Given the description of an element on the screen output the (x, y) to click on. 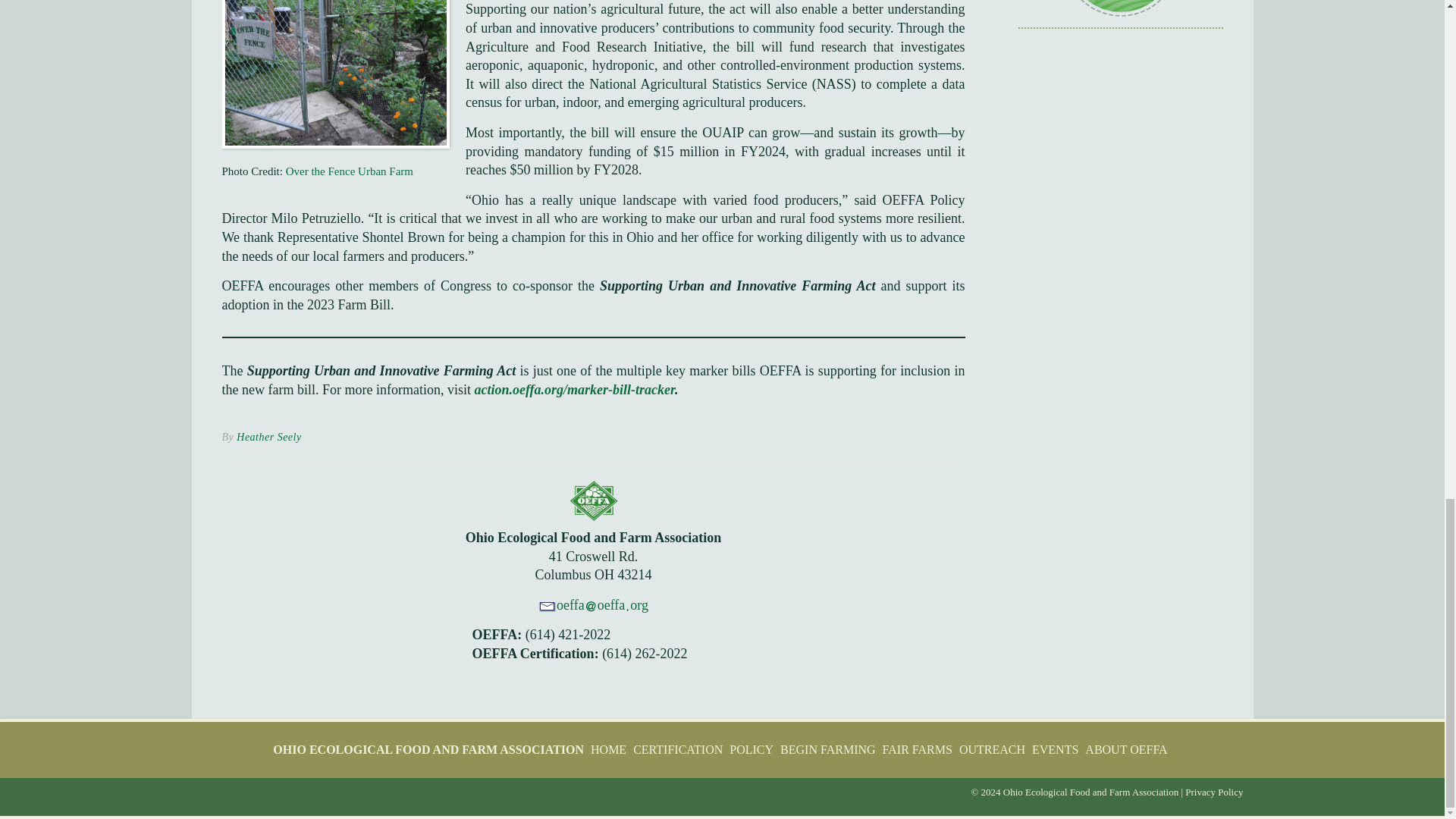
OEFFA E-Mails (1120, 13)
Posts by Heather Seely (268, 436)
